Given the description of an element on the screen output the (x, y) to click on. 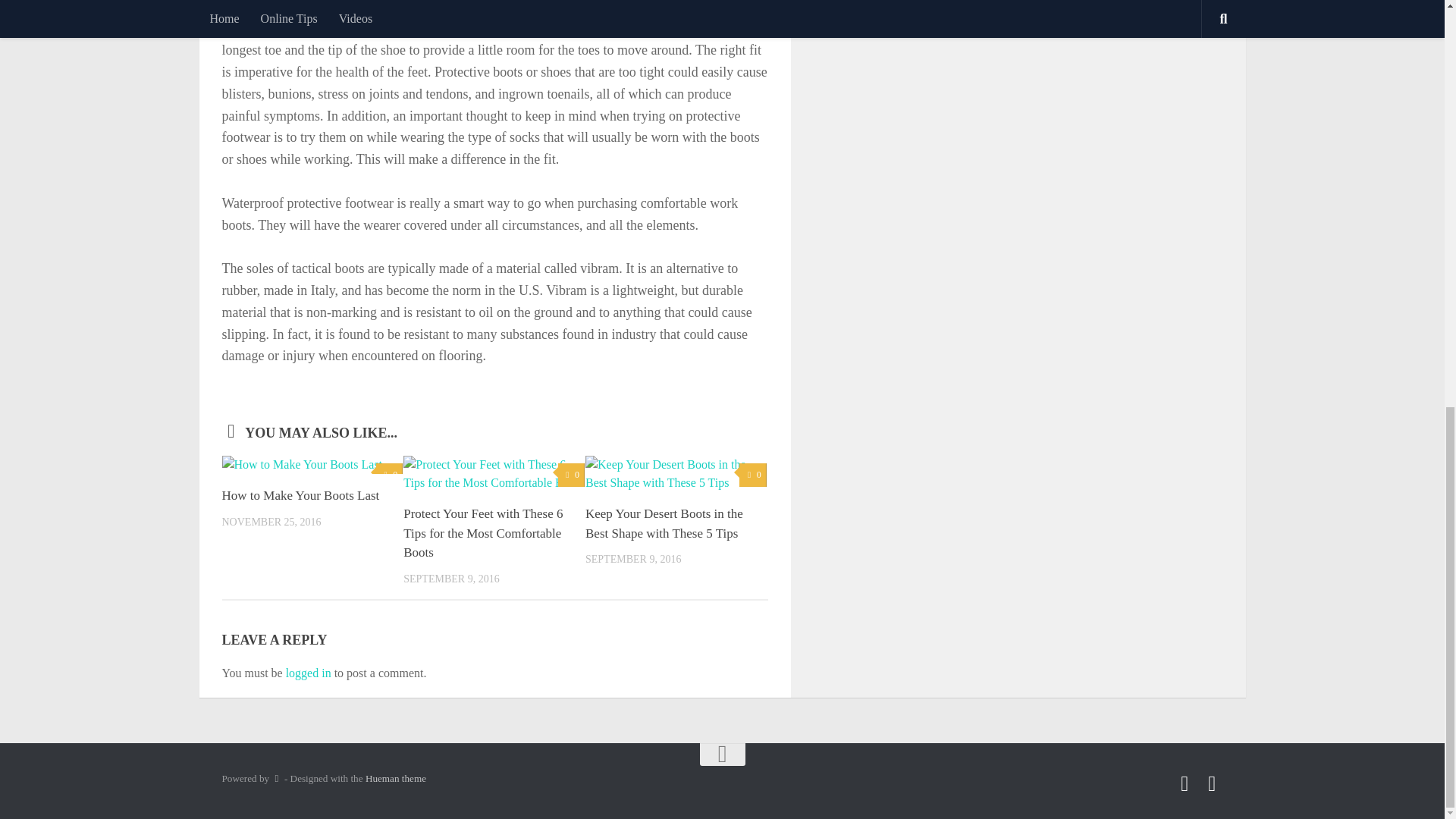
0 (571, 474)
Keep Your Desert Boots in the Best Shape with These 5 Tips (663, 523)
How to Make Your Boots Last (299, 495)
0 (389, 474)
0 (752, 474)
logged in (308, 672)
